Given the description of an element on the screen output the (x, y) to click on. 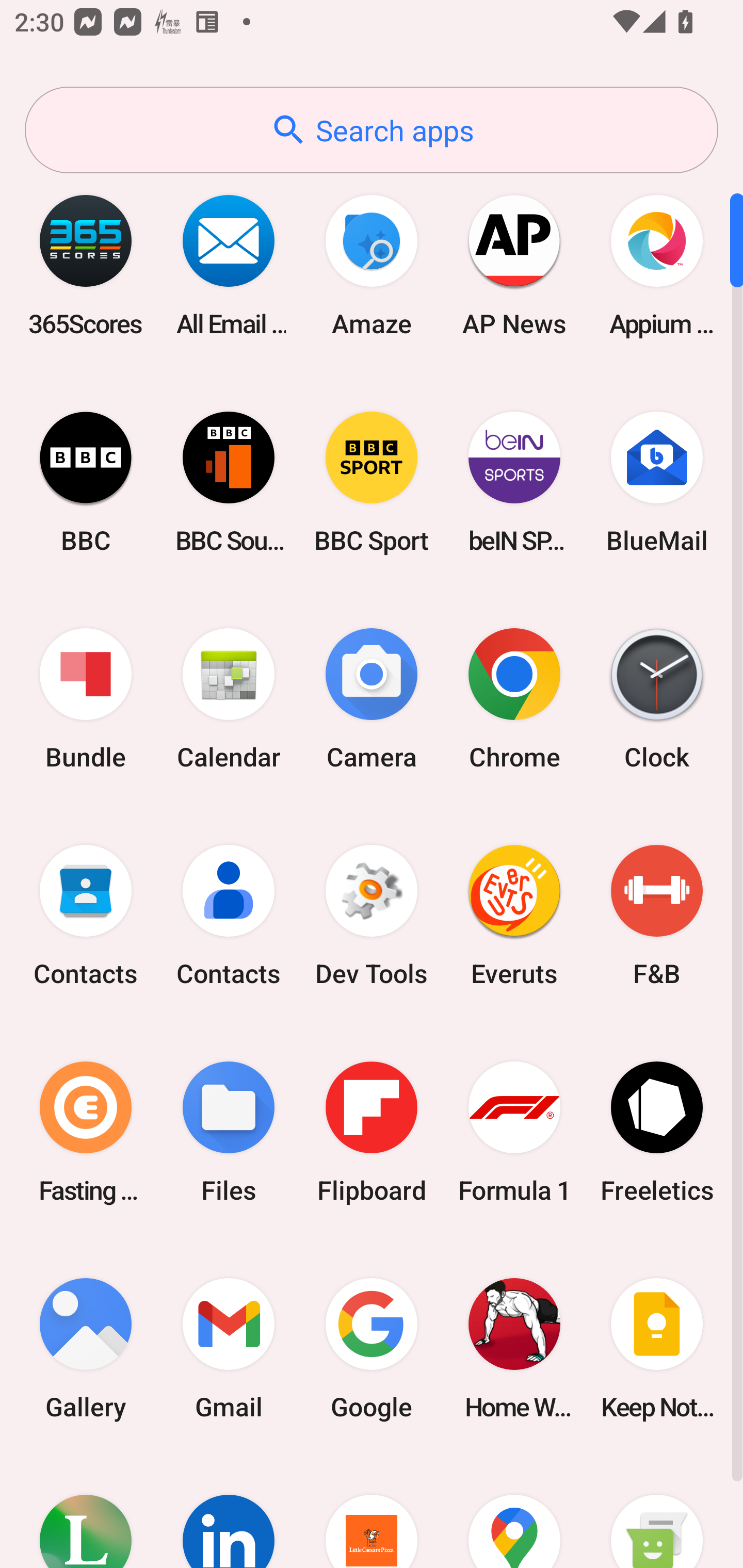
  Search apps (371, 130)
365Scores (85, 264)
All Email Connect (228, 264)
Amaze (371, 264)
AP News (514, 264)
Appium Settings (656, 264)
BBC (85, 482)
BBC Sounds (228, 482)
BBC Sport (371, 482)
beIN SPORTS (514, 482)
BlueMail (656, 482)
Bundle (85, 699)
Calendar (228, 699)
Camera (371, 699)
Chrome (514, 699)
Clock (656, 699)
Contacts (85, 915)
Contacts (228, 915)
Dev Tools (371, 915)
Everuts (514, 915)
F&B (656, 915)
Fasting Coach (85, 1131)
Files (228, 1131)
Flipboard (371, 1131)
Formula 1 (514, 1131)
Freeletics (656, 1131)
Gallery (85, 1348)
Gmail (228, 1348)
Google (371, 1348)
Home Workout (514, 1348)
Keep Notes (656, 1348)
Lifesum (85, 1512)
LinkedIn (228, 1512)
Little Caesars Pizza (371, 1512)
Maps (514, 1512)
Messaging (656, 1512)
